Given the description of an element on the screen output the (x, y) to click on. 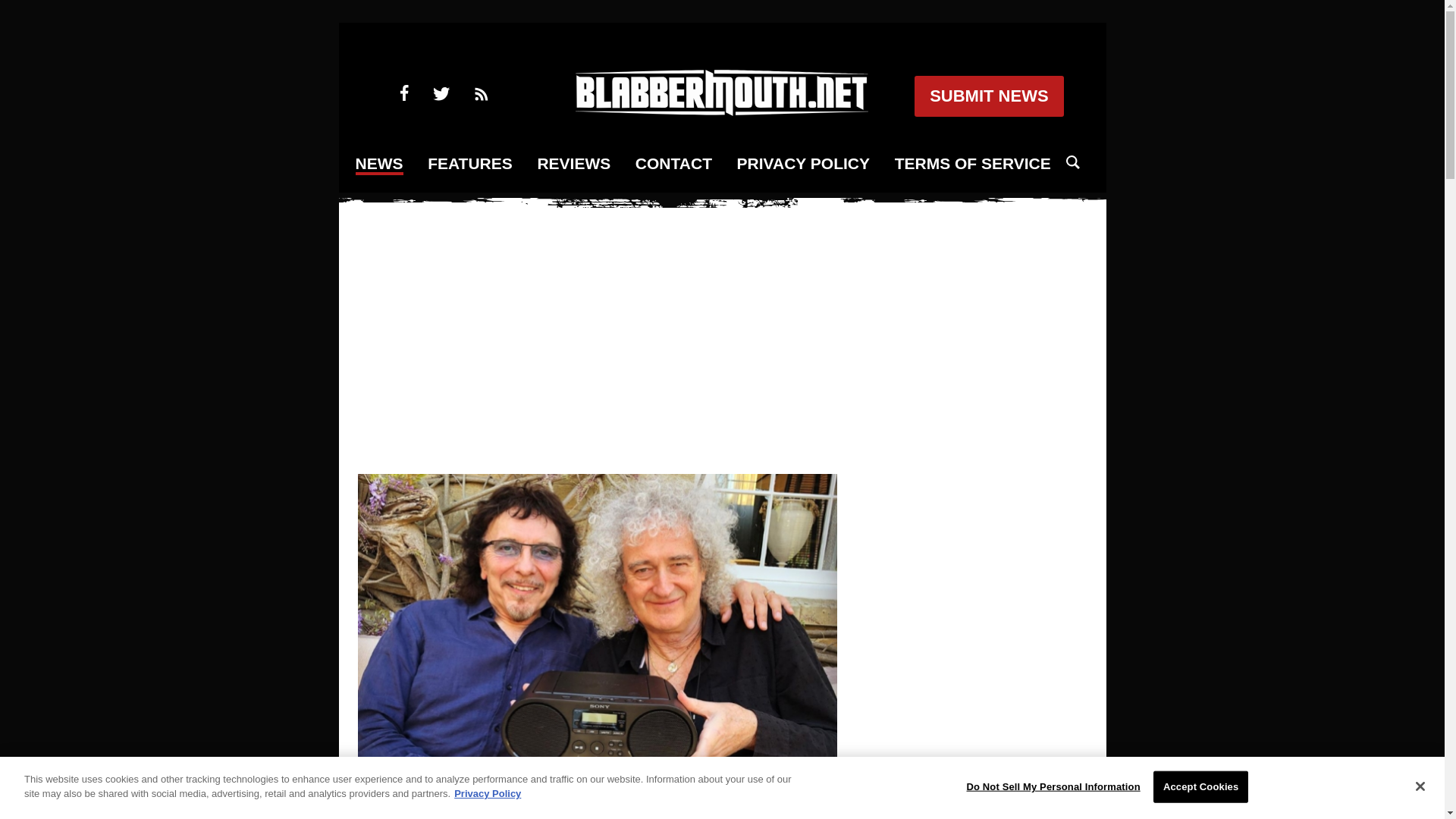
TERMS OF SERVICE (973, 163)
SUBMIT NEWS (988, 96)
FEATURES (470, 163)
PRIVACY POLICY (802, 163)
search icon (1072, 161)
REVIEWS (573, 163)
CONTACT (672, 163)
blabbermouth (721, 110)
NEWS (379, 164)
